Given the description of an element on the screen output the (x, y) to click on. 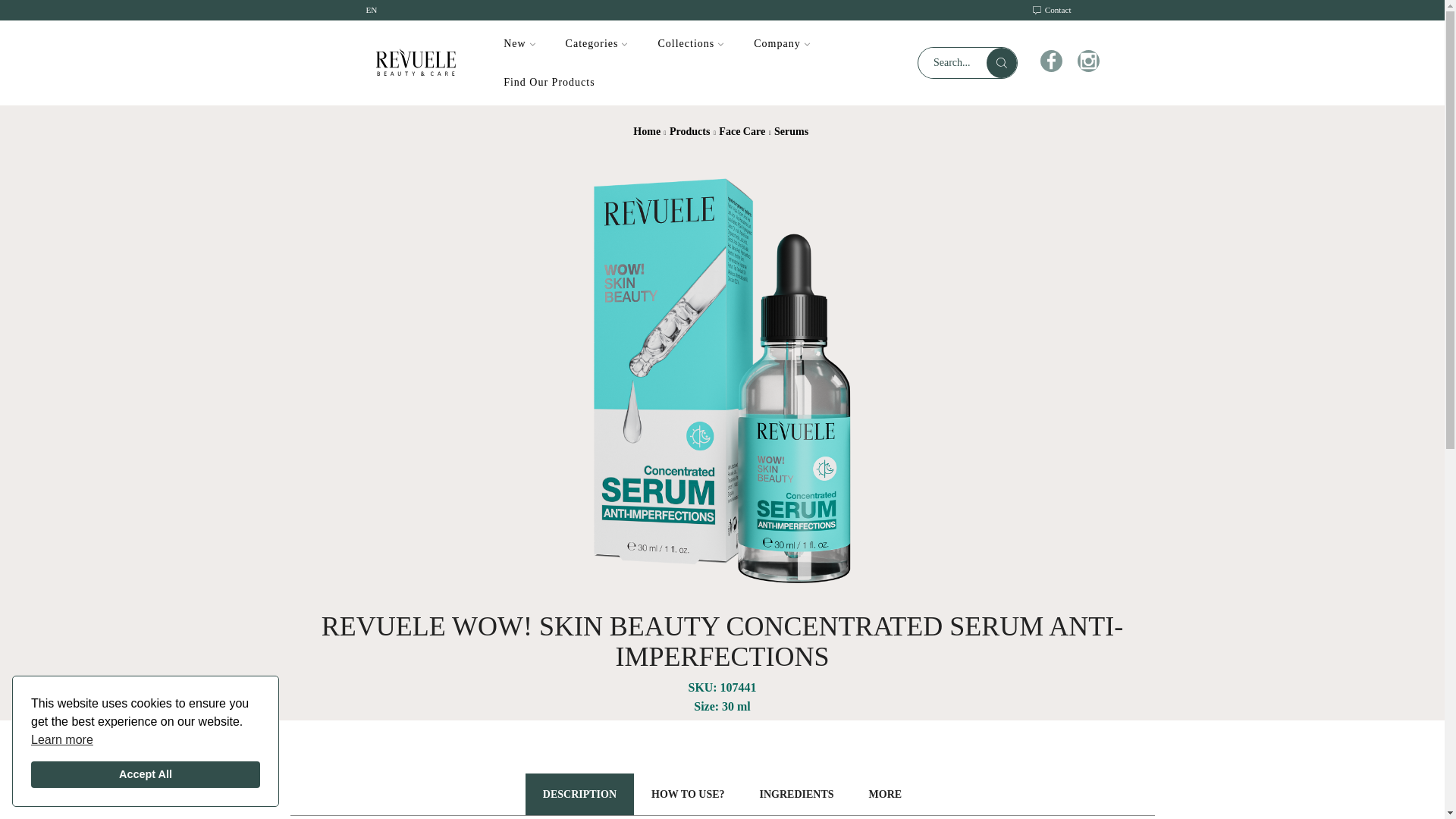
Accept All (145, 774)
Categories (596, 43)
New (518, 43)
Learn more (61, 740)
